Given the description of an element on the screen output the (x, y) to click on. 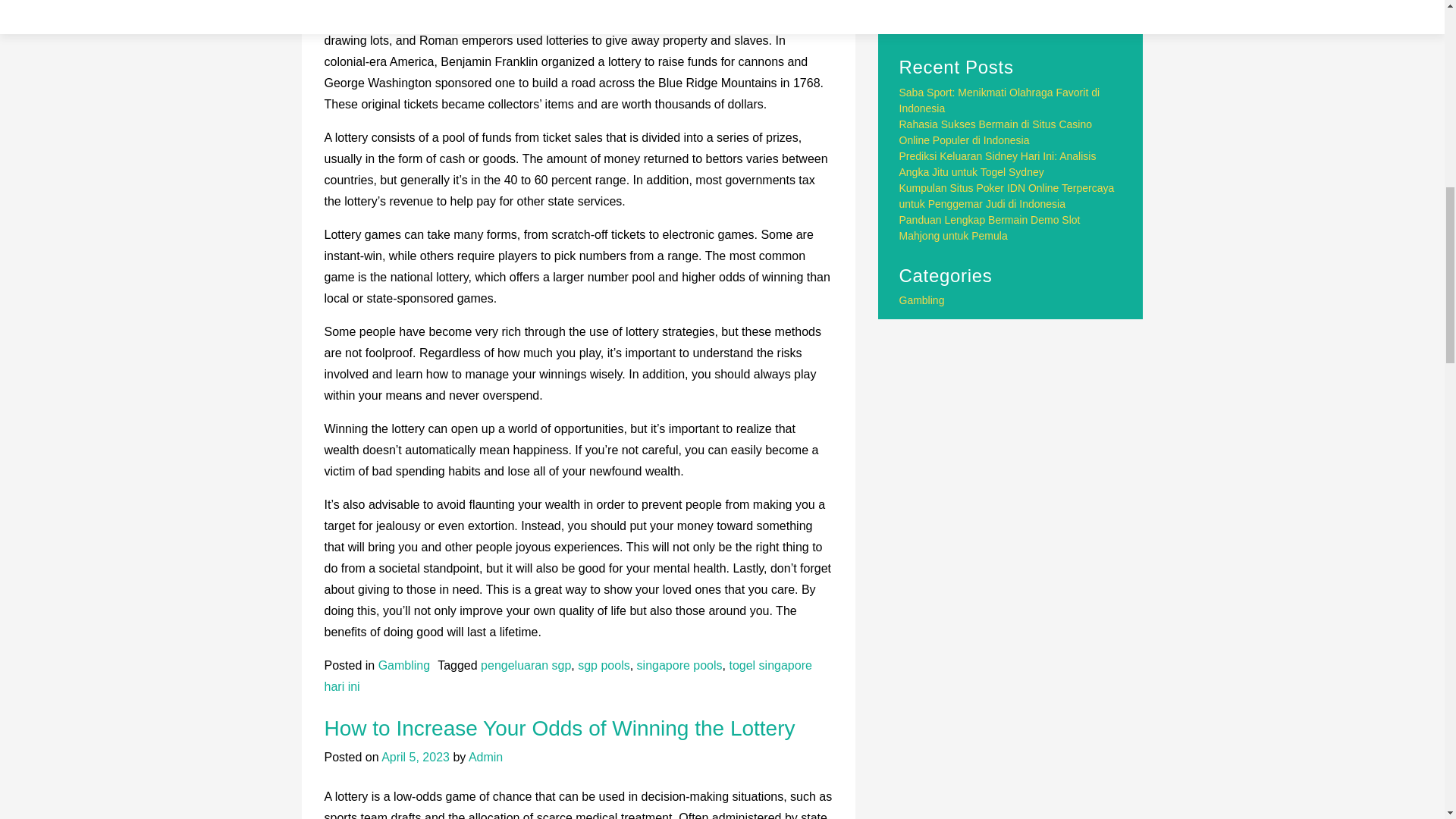
Gambling (403, 665)
singapore pools (679, 665)
pengeluaran sgp (525, 665)
April 5, 2023 (415, 757)
Admin (485, 757)
How to Increase Your Odds of Winning the Lottery (559, 728)
sgp pools (604, 665)
togel singapore hari ini (568, 675)
